Given the description of an element on the screen output the (x, y) to click on. 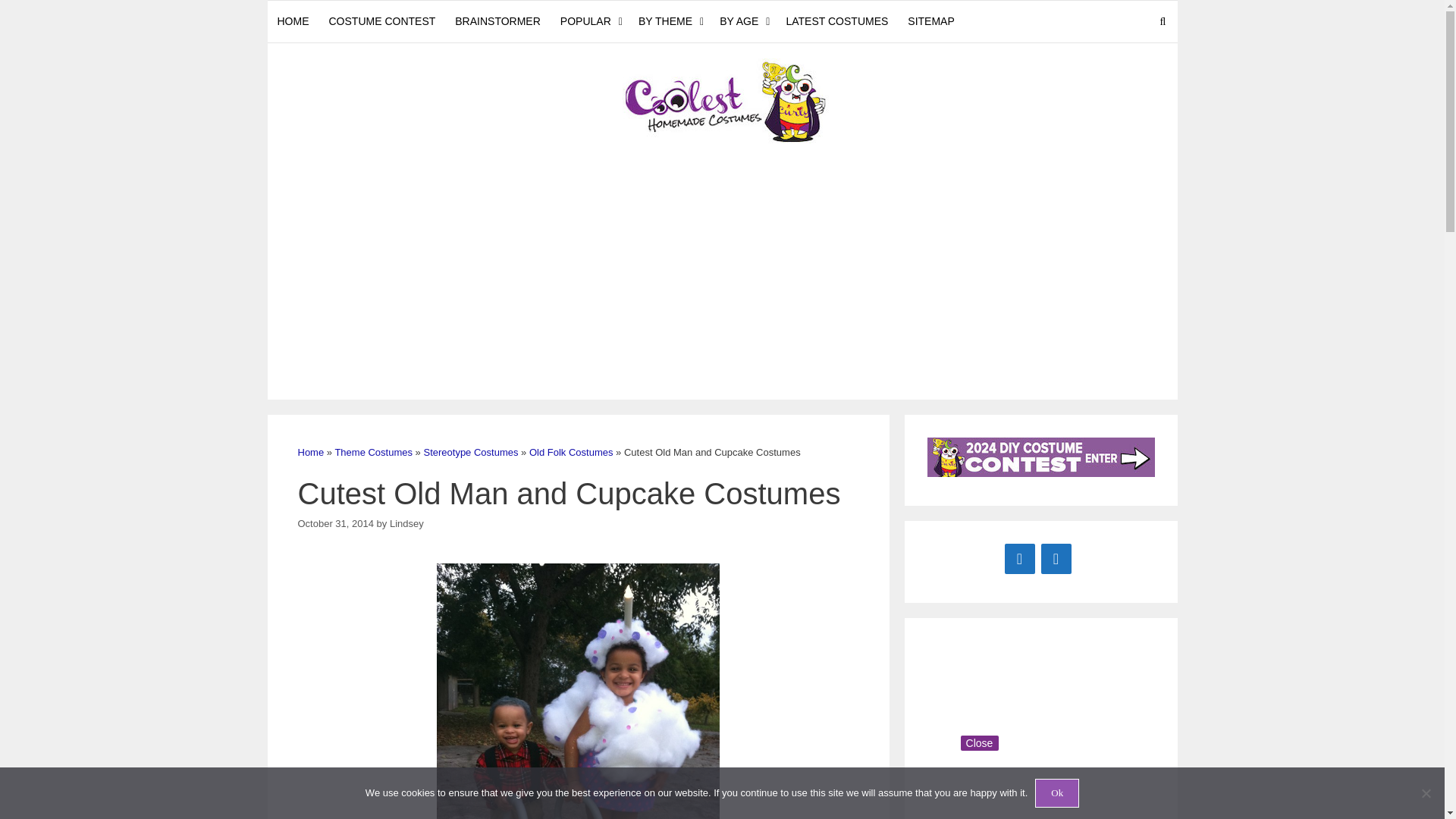
Instagram (1055, 557)
View all posts by Lindsey (406, 523)
POPULAR (589, 21)
LATEST COSTUMES (837, 21)
3rd party ad content (987, 729)
BY AGE (743, 21)
SITEMAP (930, 21)
BRAINSTORMER (497, 21)
HOME (292, 21)
Facebook (1018, 557)
BY THEME (669, 21)
COSTUME CONTEST (381, 21)
